Given the description of an element on the screen output the (x, y) to click on. 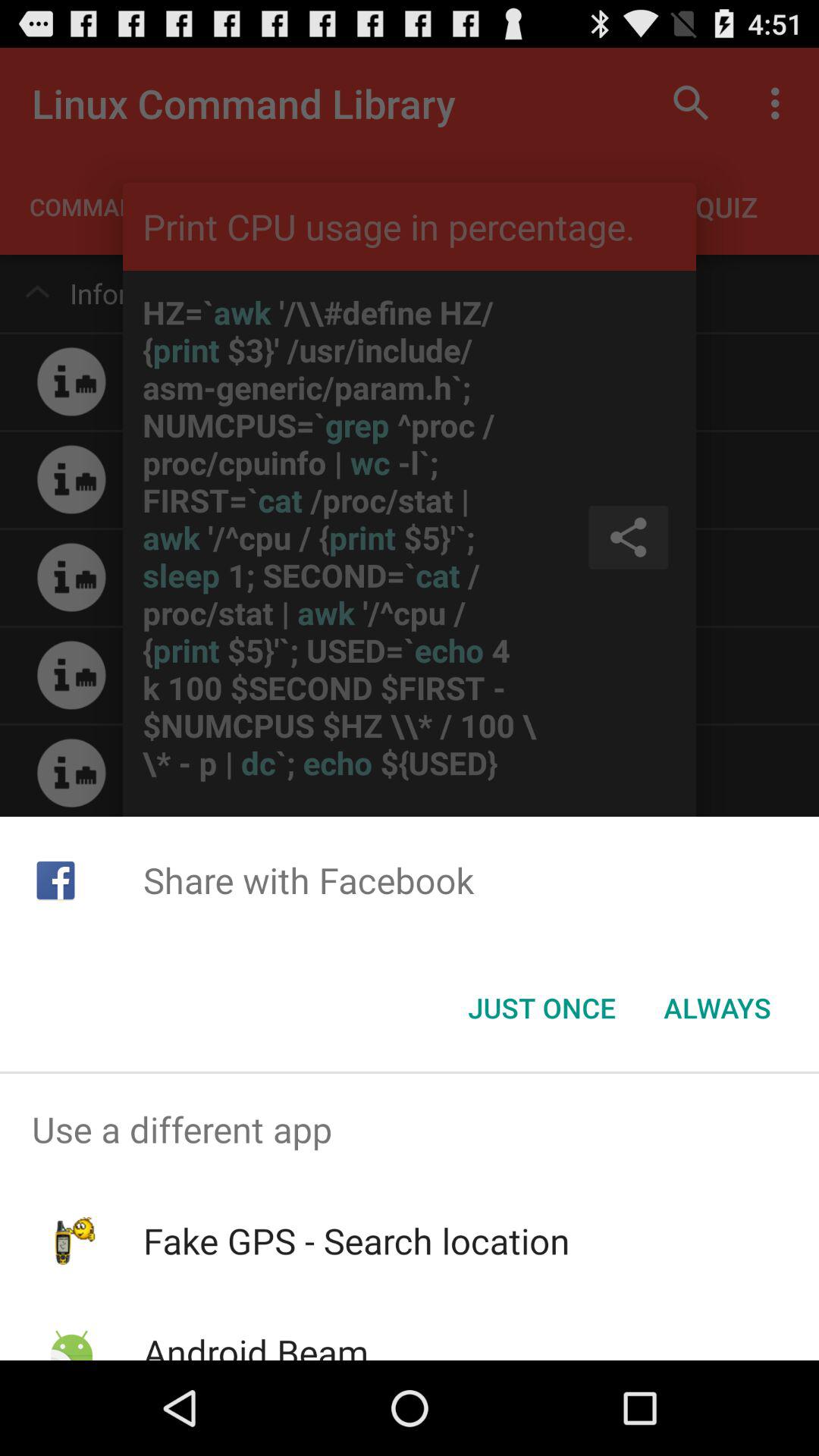
choose icon above android beam (356, 1240)
